Given the description of an element on the screen output the (x, y) to click on. 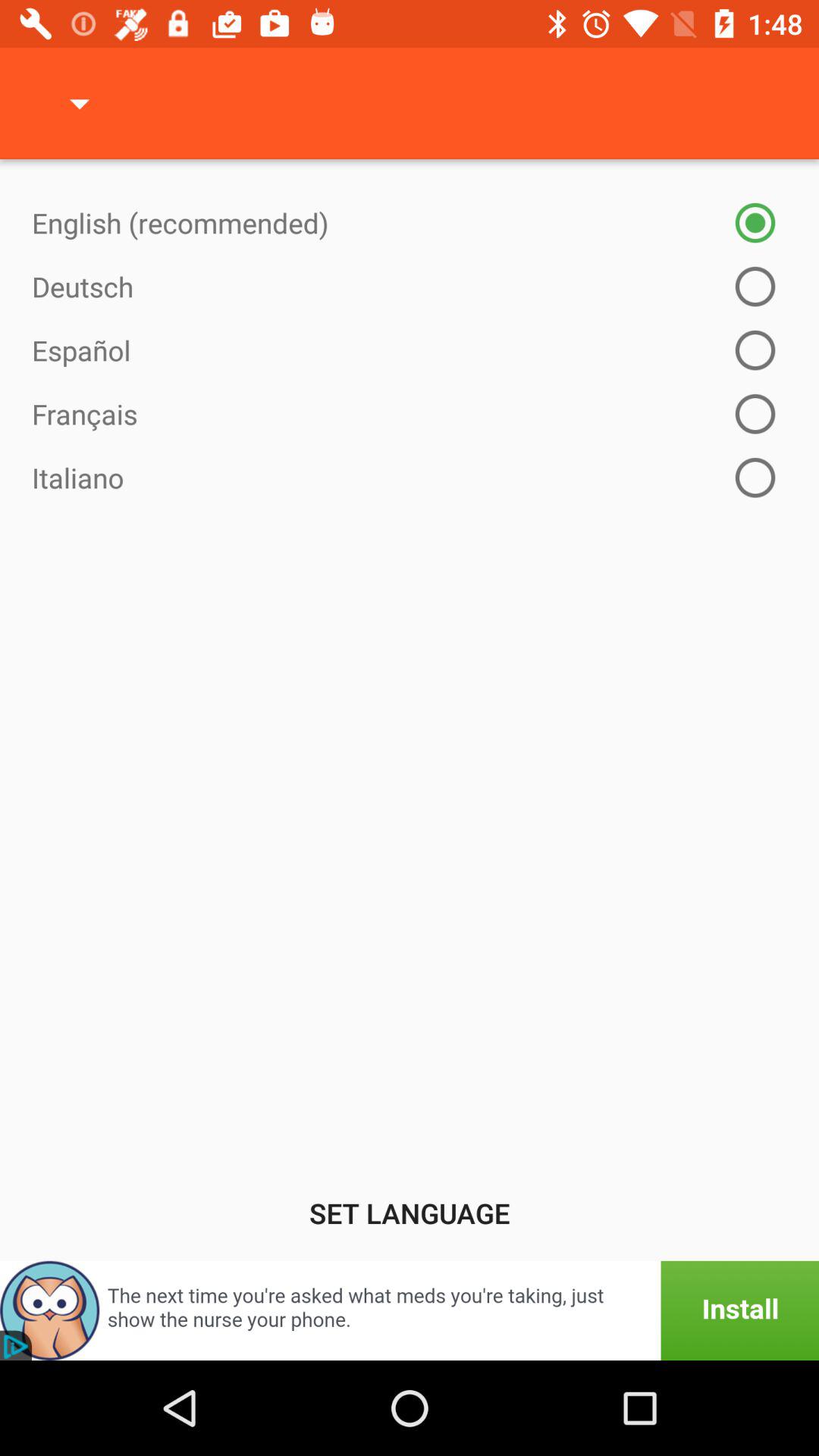
clickable advertisement (409, 1310)
